Given the description of an element on the screen output the (x, y) to click on. 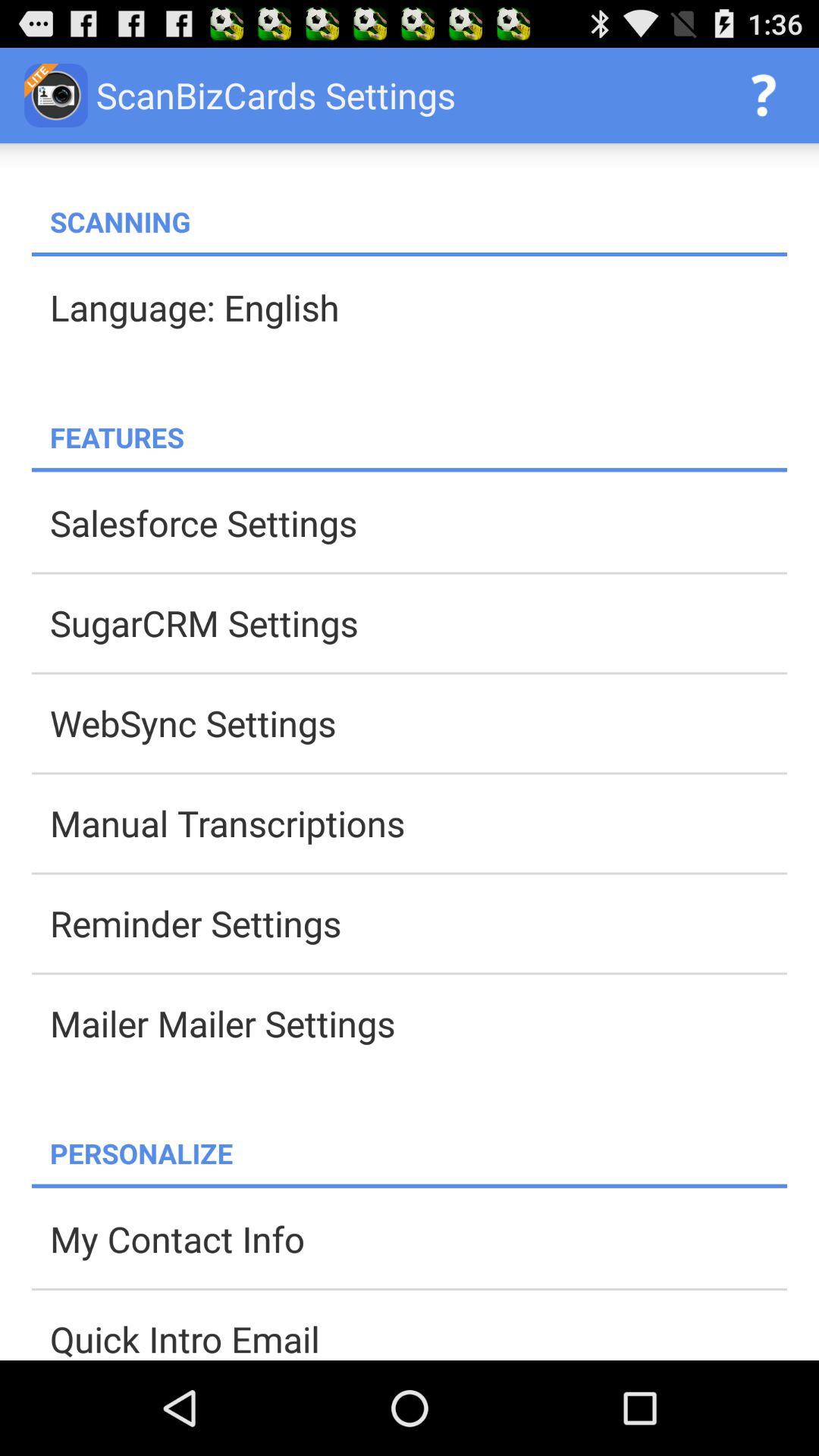
tap the app above the websync settings icon (418, 622)
